Given the description of an element on the screen output the (x, y) to click on. 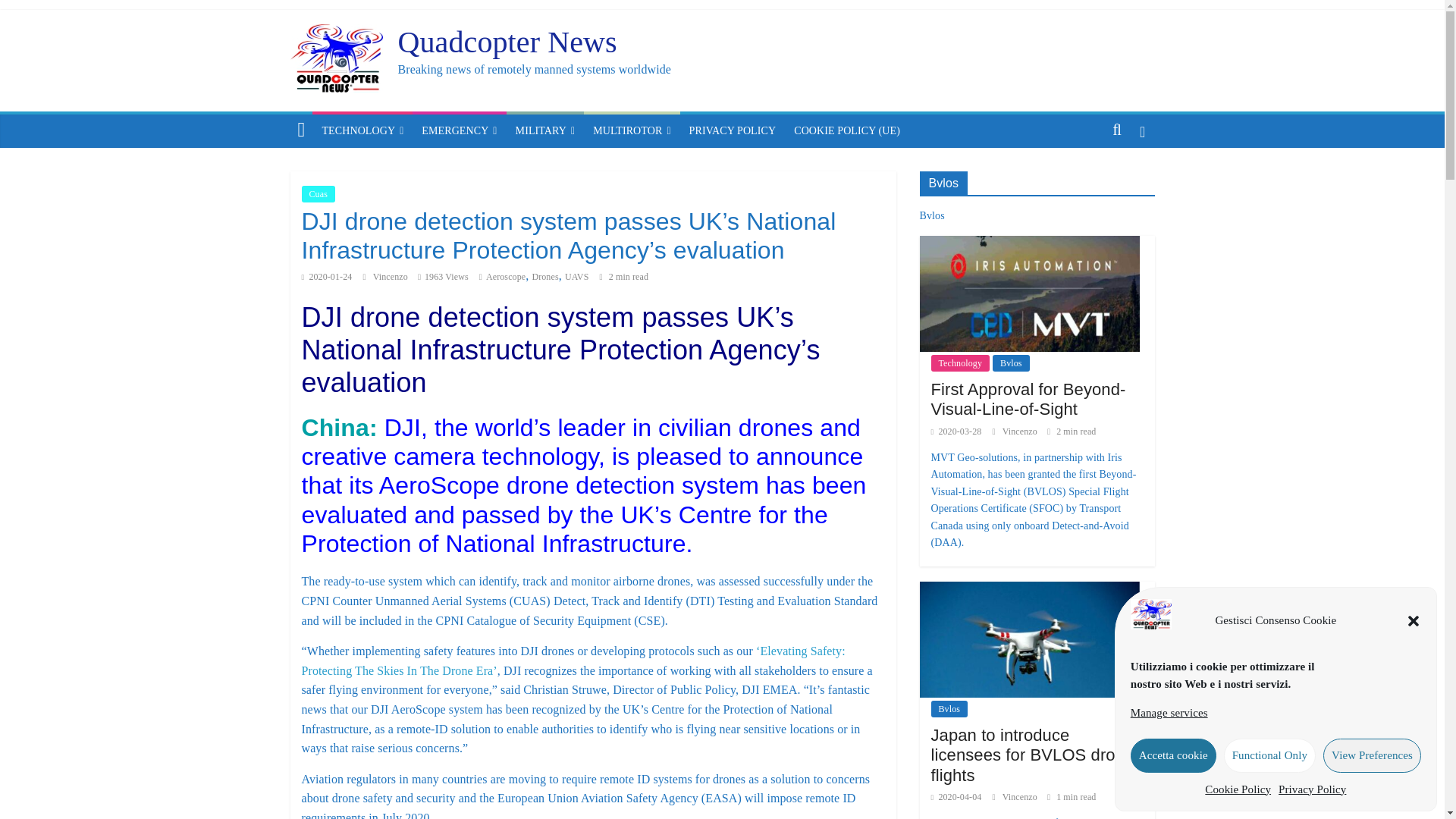
MILITARY (545, 131)
Vincenzo (391, 276)
2020-01-24 (326, 276)
MULTIROTOR (631, 131)
MILITARY (545, 131)
Cookie Policy (1238, 789)
10:00 AM (326, 276)
Functional Only (1270, 755)
Quadcopter News (506, 41)
Technology (362, 131)
MULTIROTOR (631, 131)
Manage services (1169, 713)
TECHNOLOGY (362, 131)
Privacy Policy (1311, 789)
Privacy Policy (732, 131)
